Given the description of an element on the screen output the (x, y) to click on. 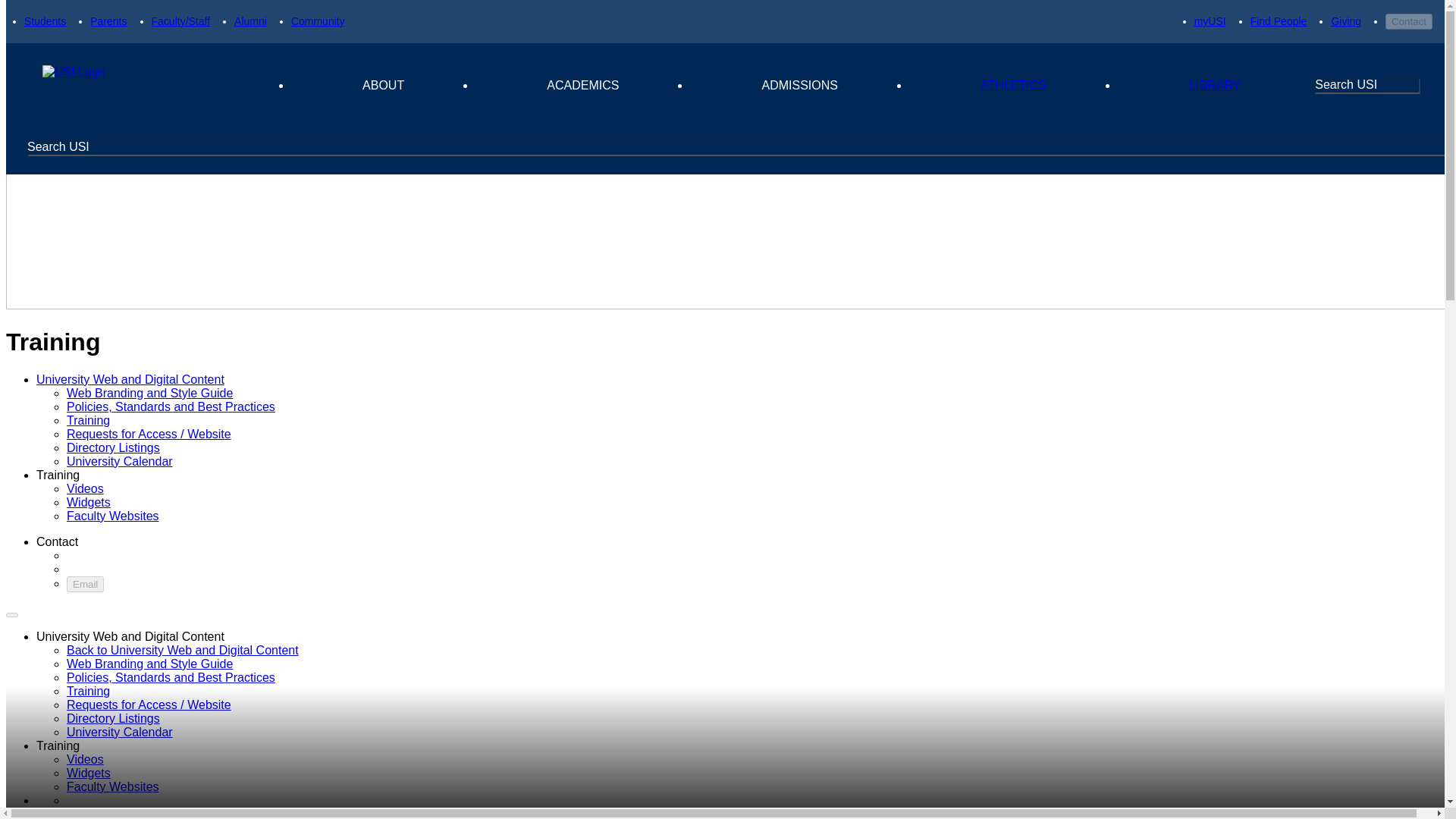
Parents (108, 21)
Contact (1409, 21)
Alumni (250, 21)
University of Southern Indiana (151, 85)
Community (318, 21)
myUSI (1209, 21)
Giving (1345, 21)
Students (44, 21)
Find People (1278, 21)
University Web and Digital Content (130, 379)
